Given the description of an element on the screen output the (x, y) to click on. 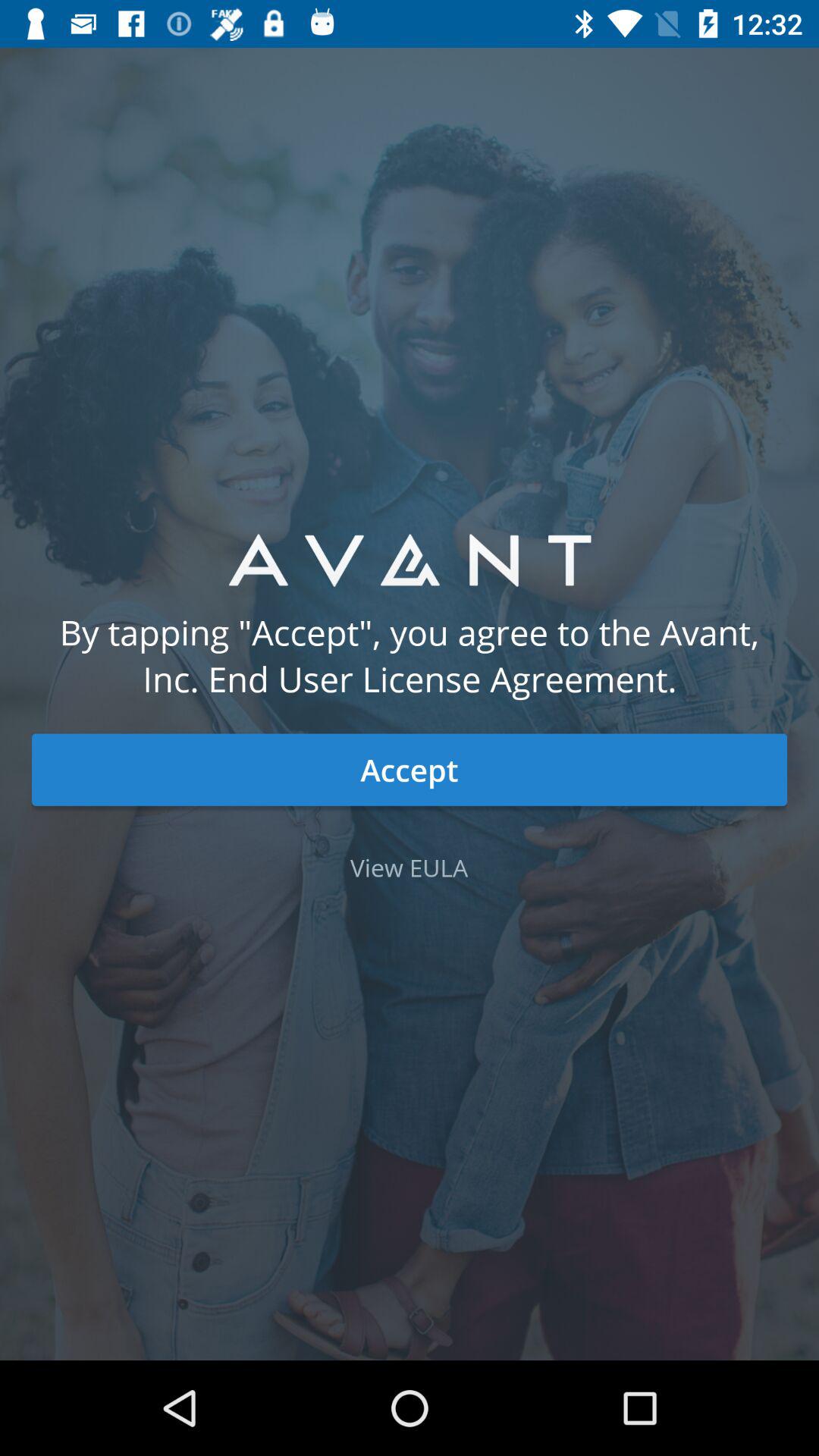
scroll until the view eula icon (409, 867)
